Given the description of an element on the screen output the (x, y) to click on. 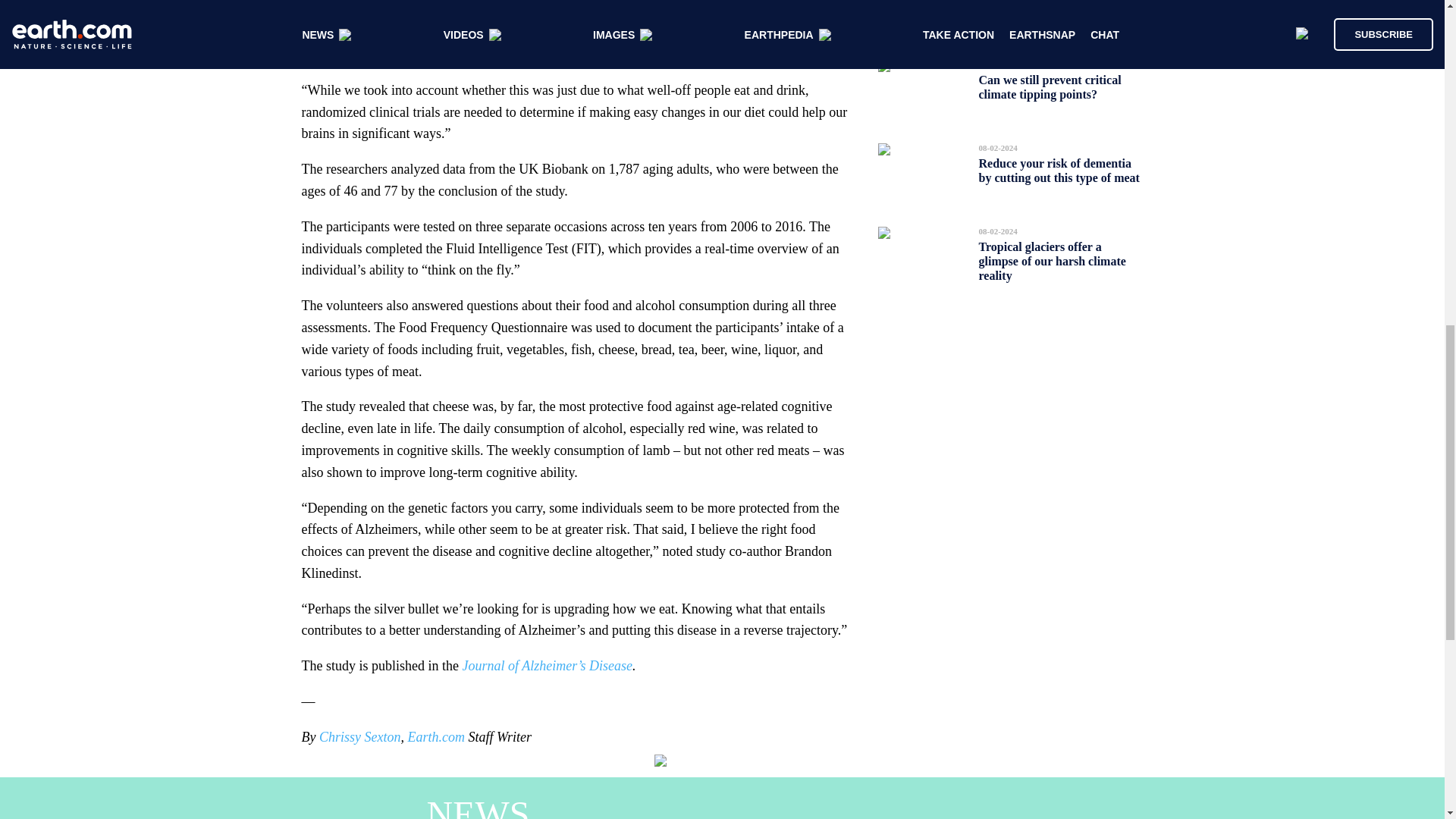
Chrissy Sexton (359, 736)
Earth.com (435, 736)
Can we still prevent critical climate tipping points? (1049, 87)
